Given the description of an element on the screen output the (x, y) to click on. 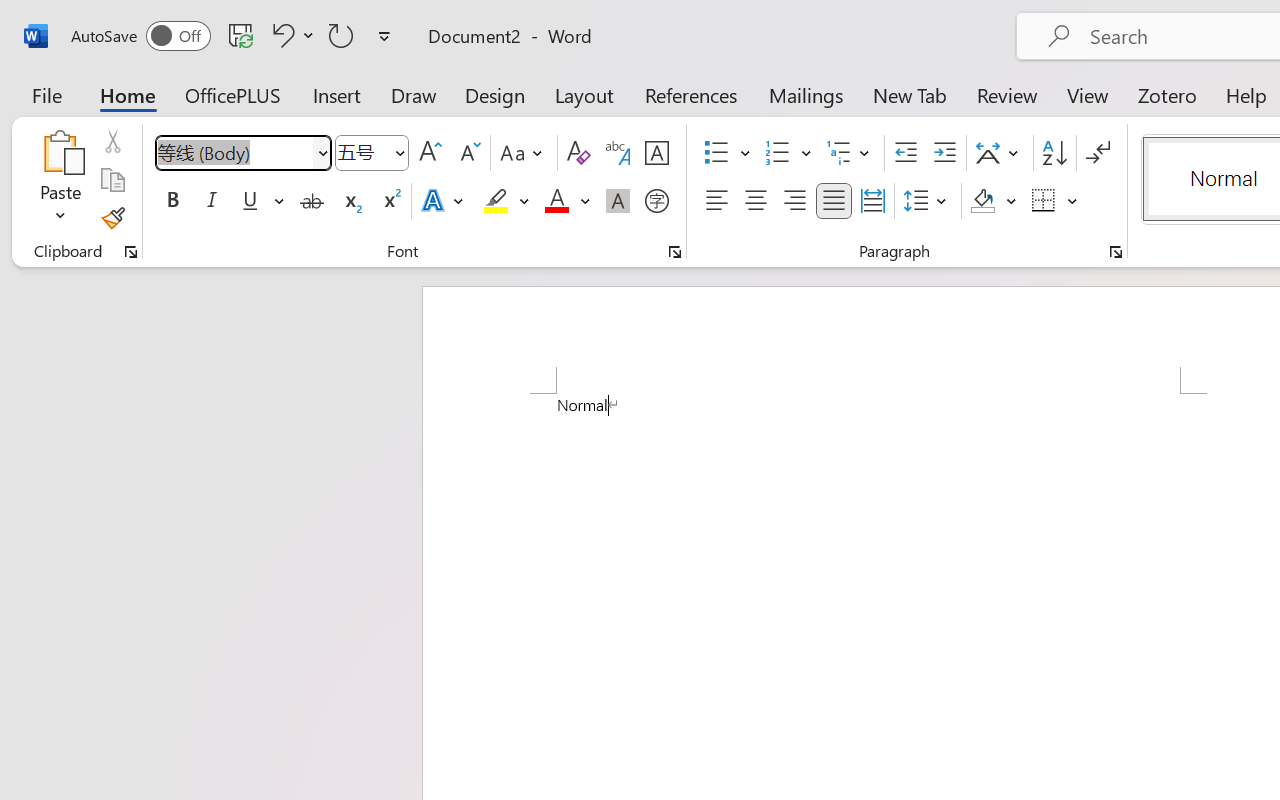
Font Size (372, 153)
Bullets (727, 153)
Distributed (872, 201)
Numbering (788, 153)
New Tab (909, 94)
Font Color Red (556, 201)
Repeat Doc Close (341, 35)
References (690, 94)
Undo Apply Quick Style (290, 35)
Multilevel List (850, 153)
Paragraph... (1115, 252)
Draw (413, 94)
Italic (212, 201)
